Given the description of an element on the screen output the (x, y) to click on. 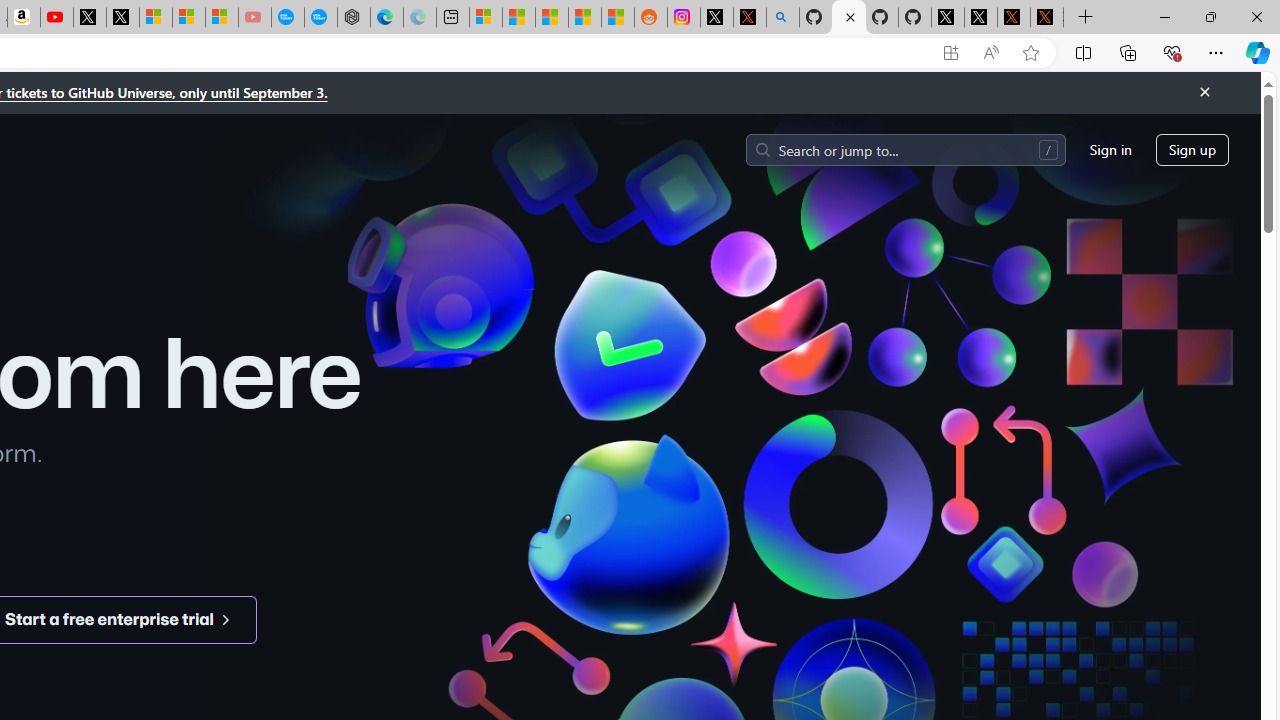
GitHub (@github) / X (981, 17)
Gloom - YouTube - Sleeping (255, 17)
Sign in (1110, 149)
X Privacy Policy (1046, 17)
